Given the description of an element on the screen output the (x, y) to click on. 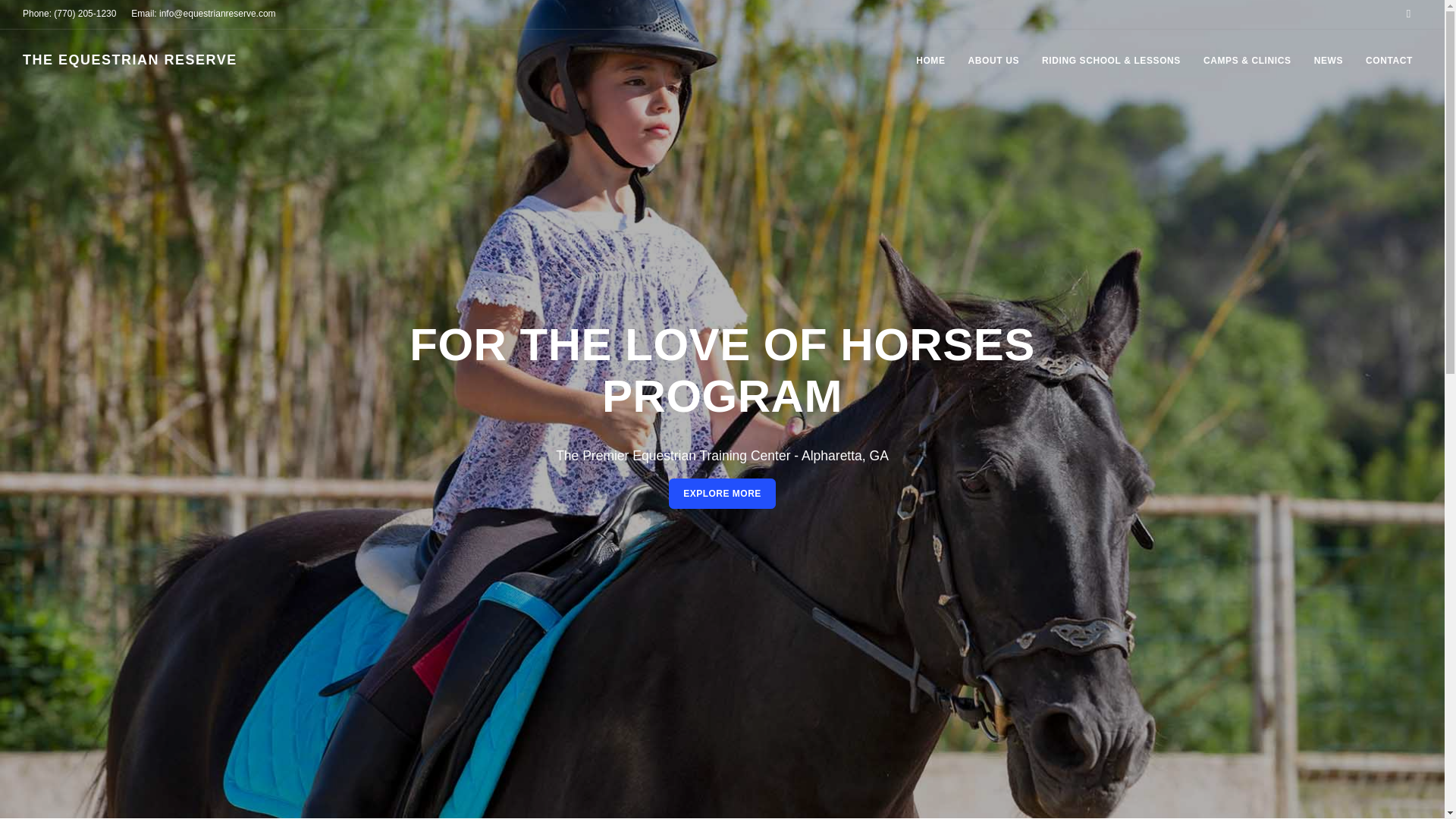
CONTACT (1389, 60)
ABOUT US (993, 60)
EXPLORE MORE (722, 493)
EXPLORE MORE (722, 493)
NEWS (1328, 60)
THE EQUESTRIAN RESERVE (130, 59)
HOME (930, 60)
